Given the description of an element on the screen output the (x, y) to click on. 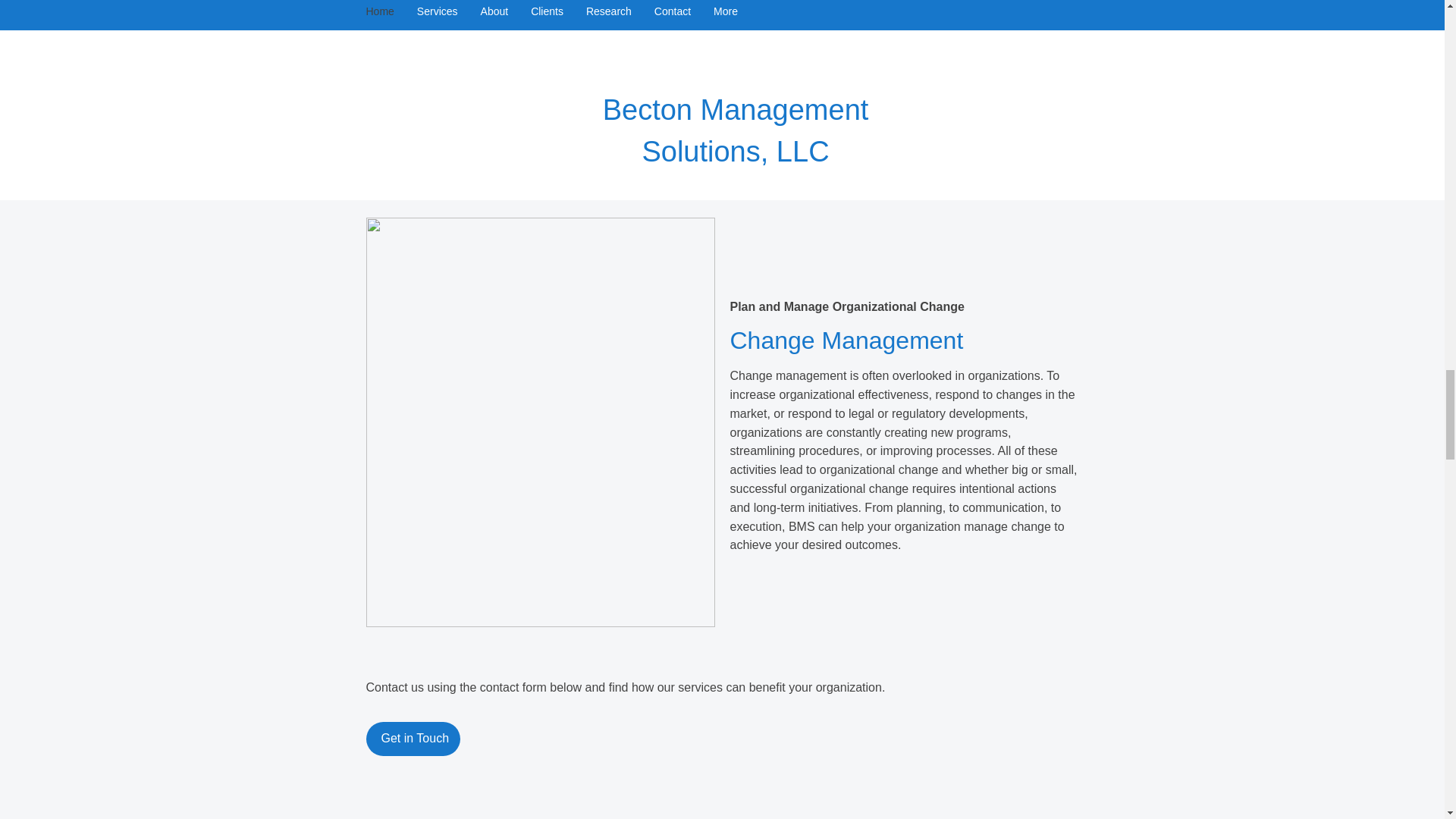
Get in Touch (412, 738)
Businessman (539, 93)
